Given the description of an element on the screen output the (x, y) to click on. 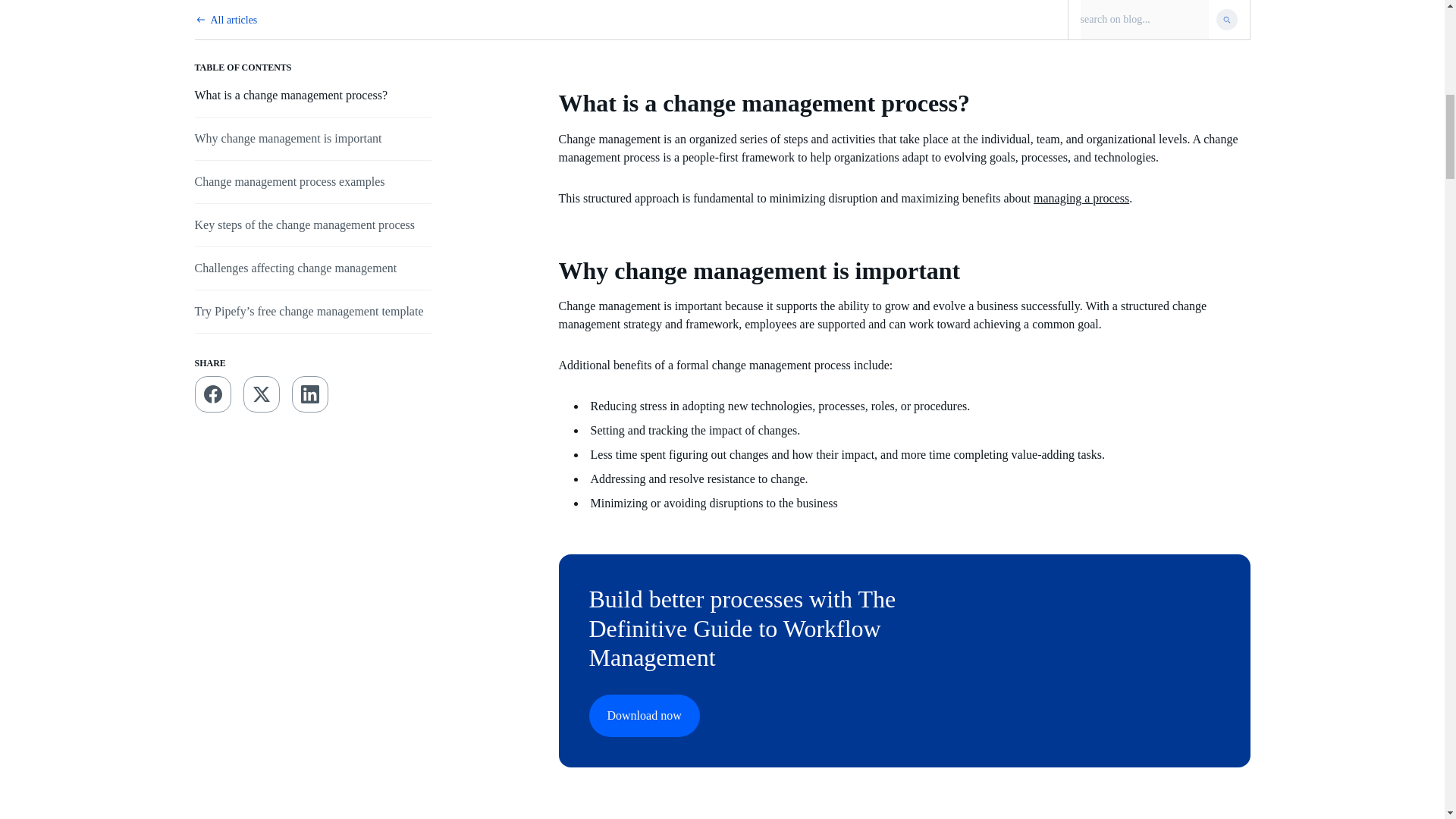
managing a process (1081, 197)
Download now (643, 715)
